Given the description of an element on the screen output the (x, y) to click on. 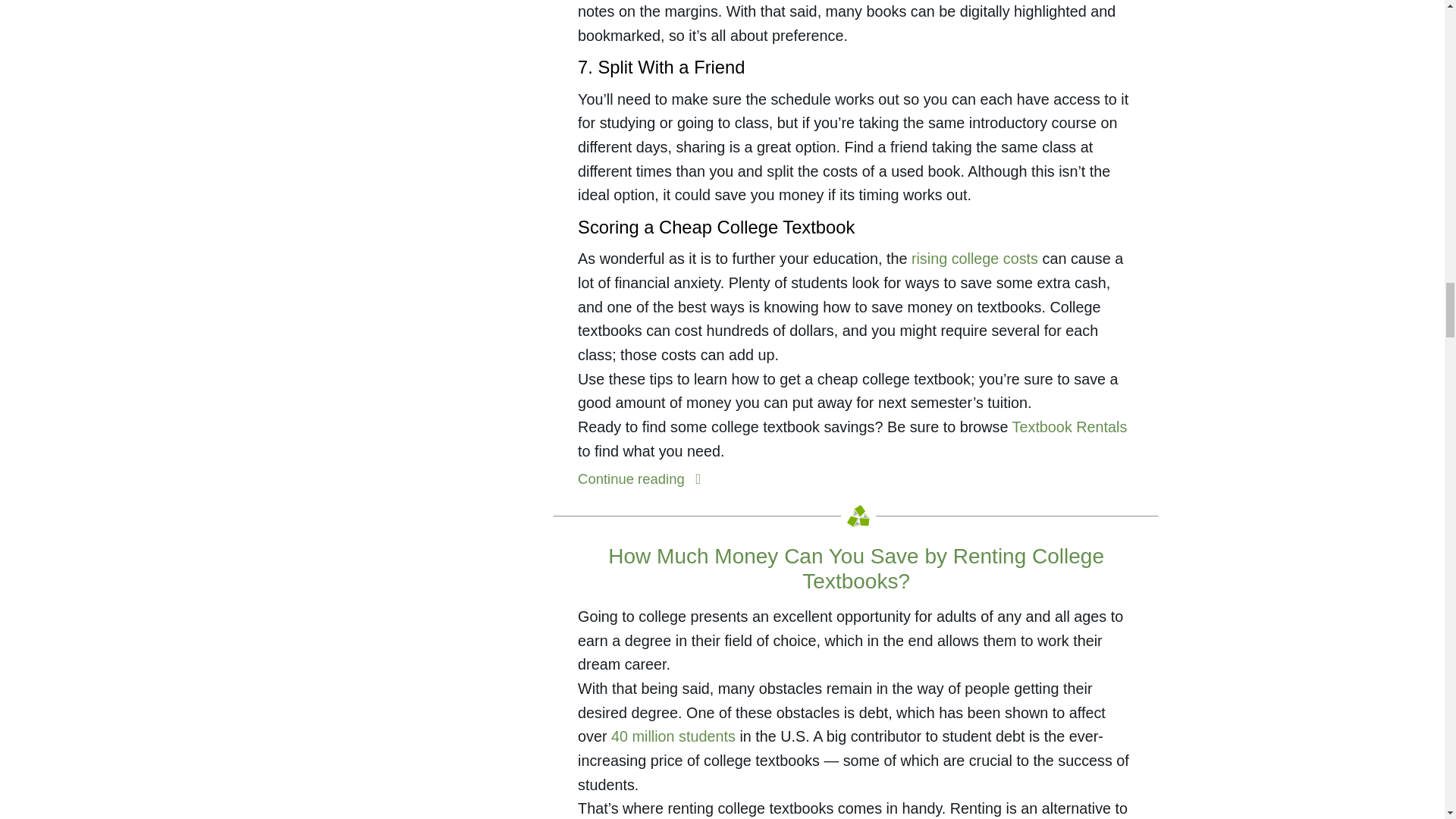
Continue reading (642, 478)
40 million students (673, 736)
Textbook Rentals (1068, 426)
7 Tips for Scoring a Cheap College Textbook (642, 478)
How Much Money Can You Save by Renting College Textbooks? (855, 568)
How Much Money Can You Save by Renting College Textbooks? (855, 568)
rising college costs (974, 258)
